Given the description of an element on the screen output the (x, y) to click on. 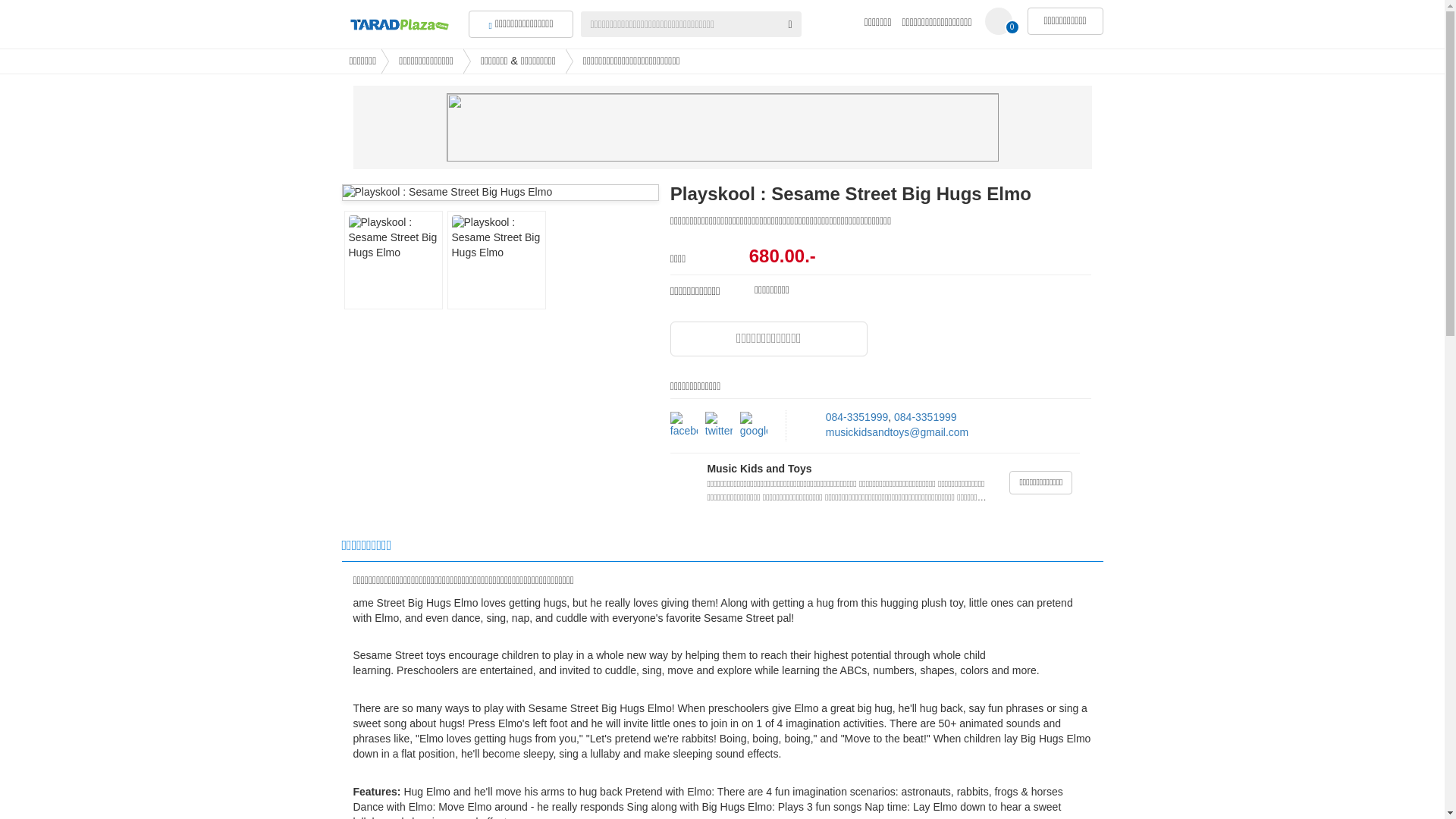
Buy Sell Rent Everyting (398, 15)
0 (997, 21)
